Given the description of an element on the screen output the (x, y) to click on. 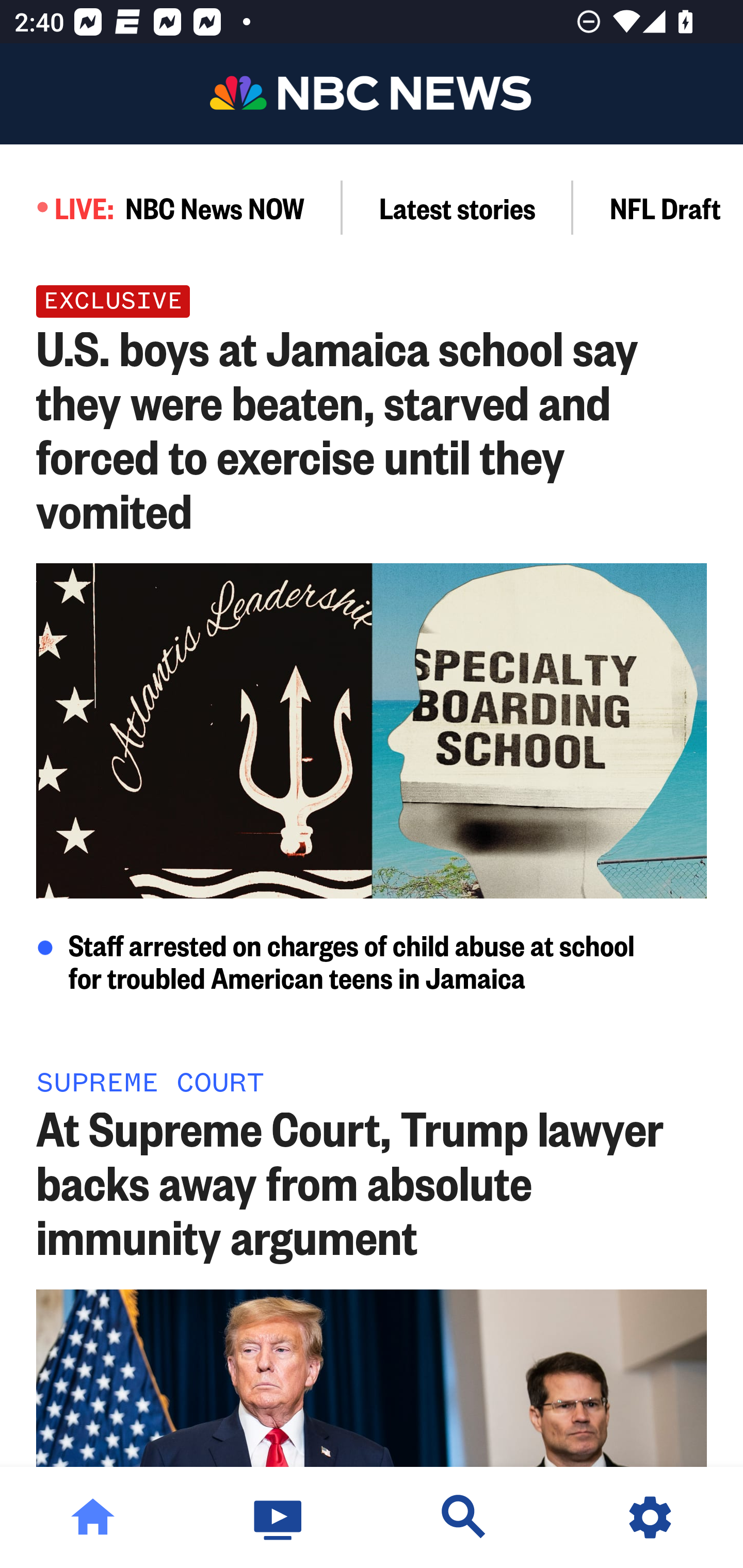
LIVE:  NBC News NOW (171, 207)
Latest stories Section,Latest stories (457, 207)
NFL Draft (658, 207)
Watch (278, 1517)
Discover (464, 1517)
Settings (650, 1517)
